Given the description of an element on the screen output the (x, y) to click on. 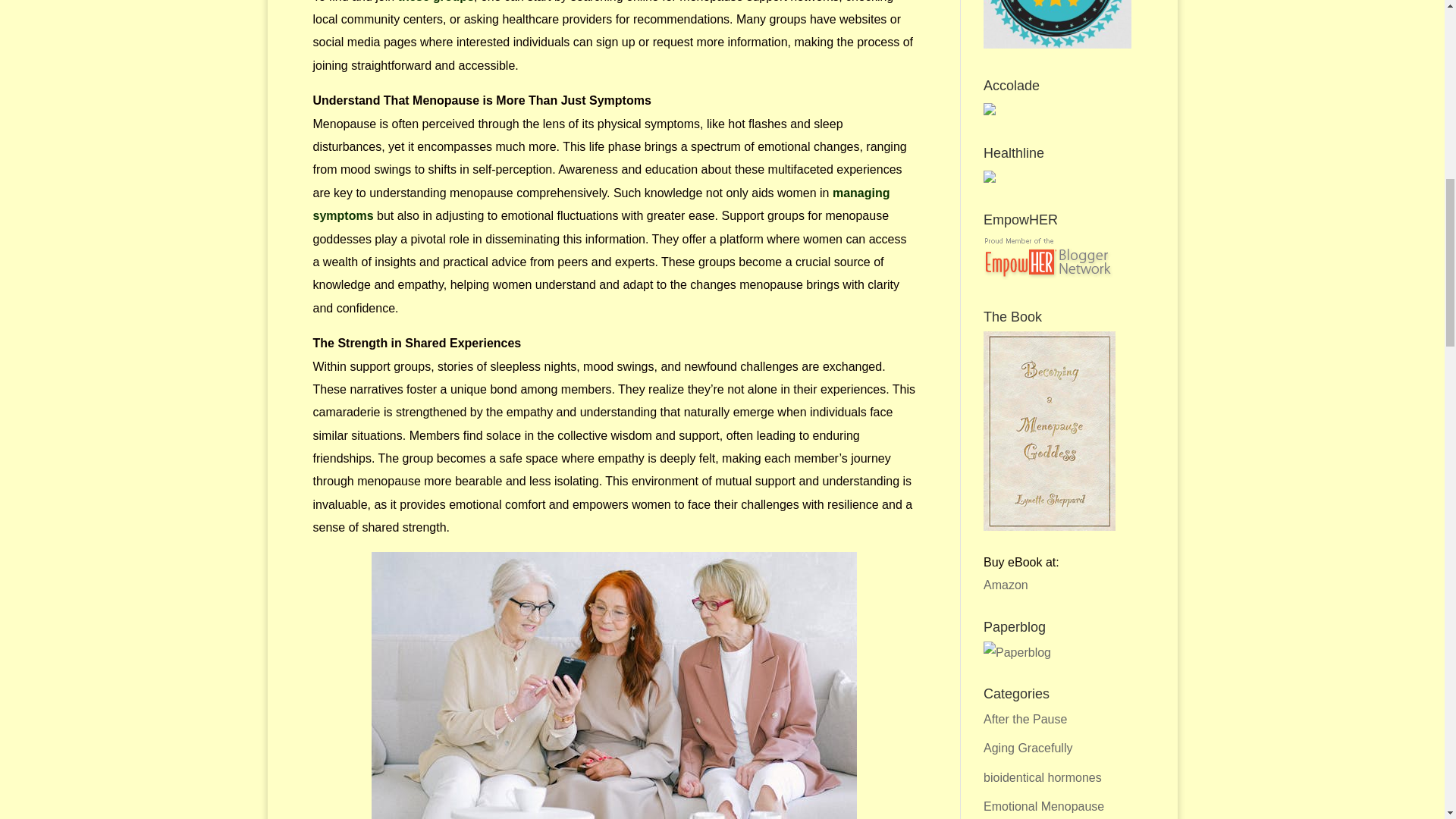
these groups (435, 1)
Paperblog : The best blog articles around (1017, 652)
Proud Member of the EmpowHER Blogger Network (1048, 275)
managing symptoms (601, 203)
Buy the book (1049, 526)
